Given the description of an element on the screen output the (x, y) to click on. 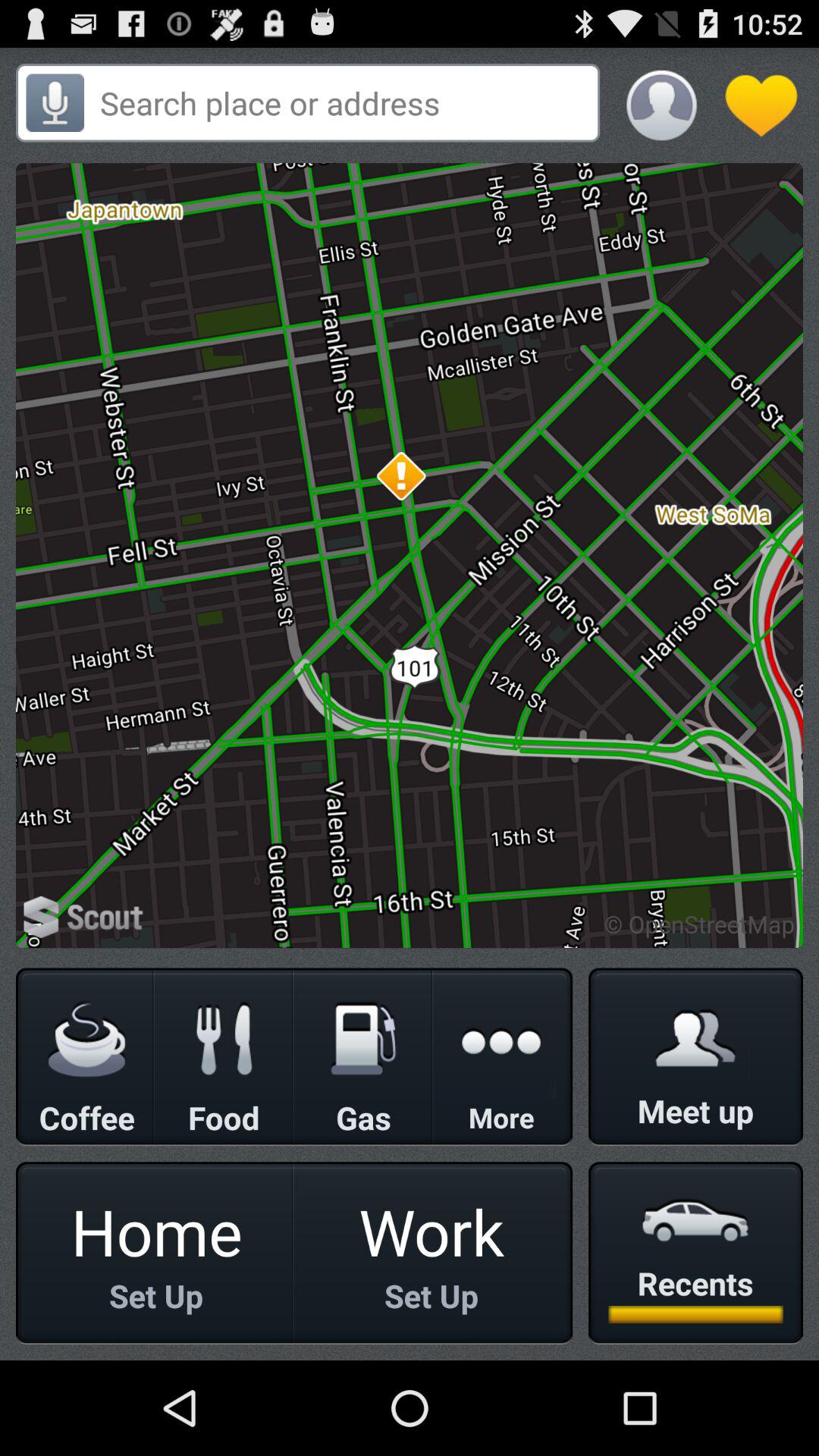
address page (344, 102)
